Given the description of an element on the screen output the (x, y) to click on. 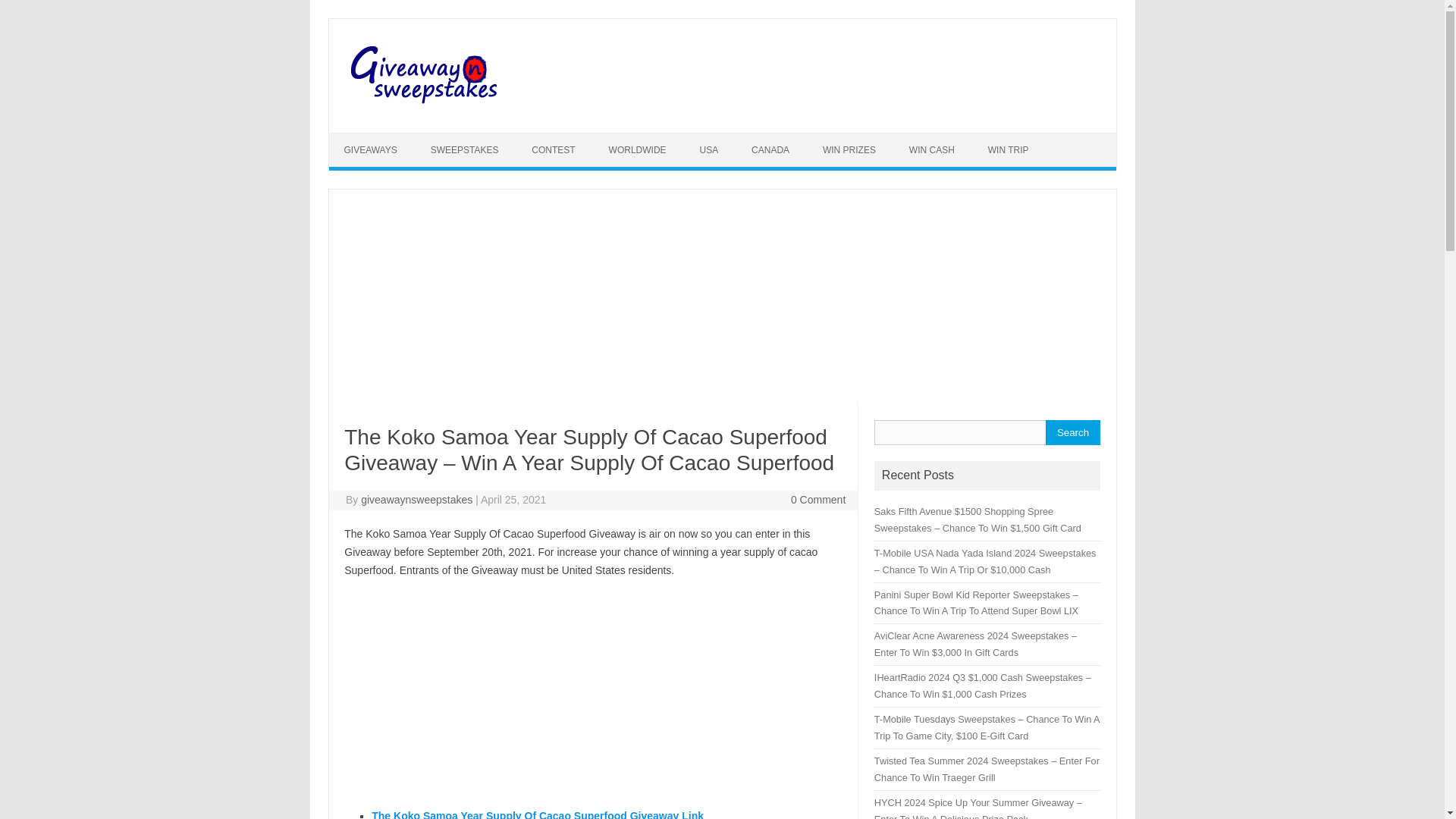
0 Comment (817, 499)
GIVEAWAYS (370, 150)
Skip to content (363, 137)
CANADA (770, 150)
CONTEST (552, 150)
WIN CASH (931, 150)
USA (708, 150)
giveawaynsweepstakes (416, 499)
WIN TRIP (1007, 150)
The Koko Samoa Year Supply Of Cacao Superfood Giveaway Link (537, 814)
WIN PRIZES (849, 150)
WORLDWIDE (637, 150)
Posts by giveawaynsweepstakes (416, 499)
GiveawayNsweepstakes (426, 106)
